Given the description of an element on the screen output the (x, y) to click on. 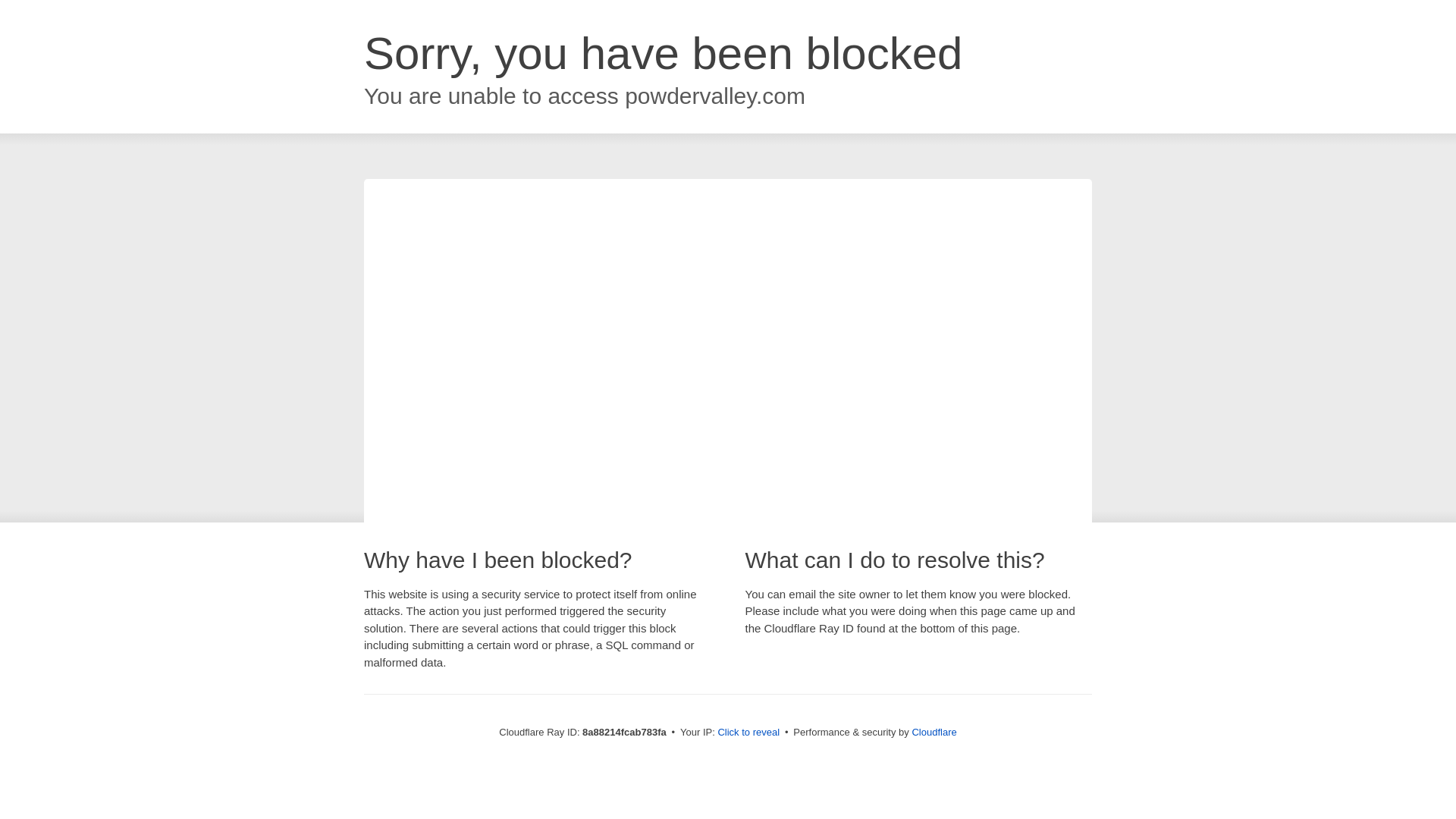
Click to reveal (747, 732)
Cloudflare (933, 731)
